Given the description of an element on the screen output the (x, y) to click on. 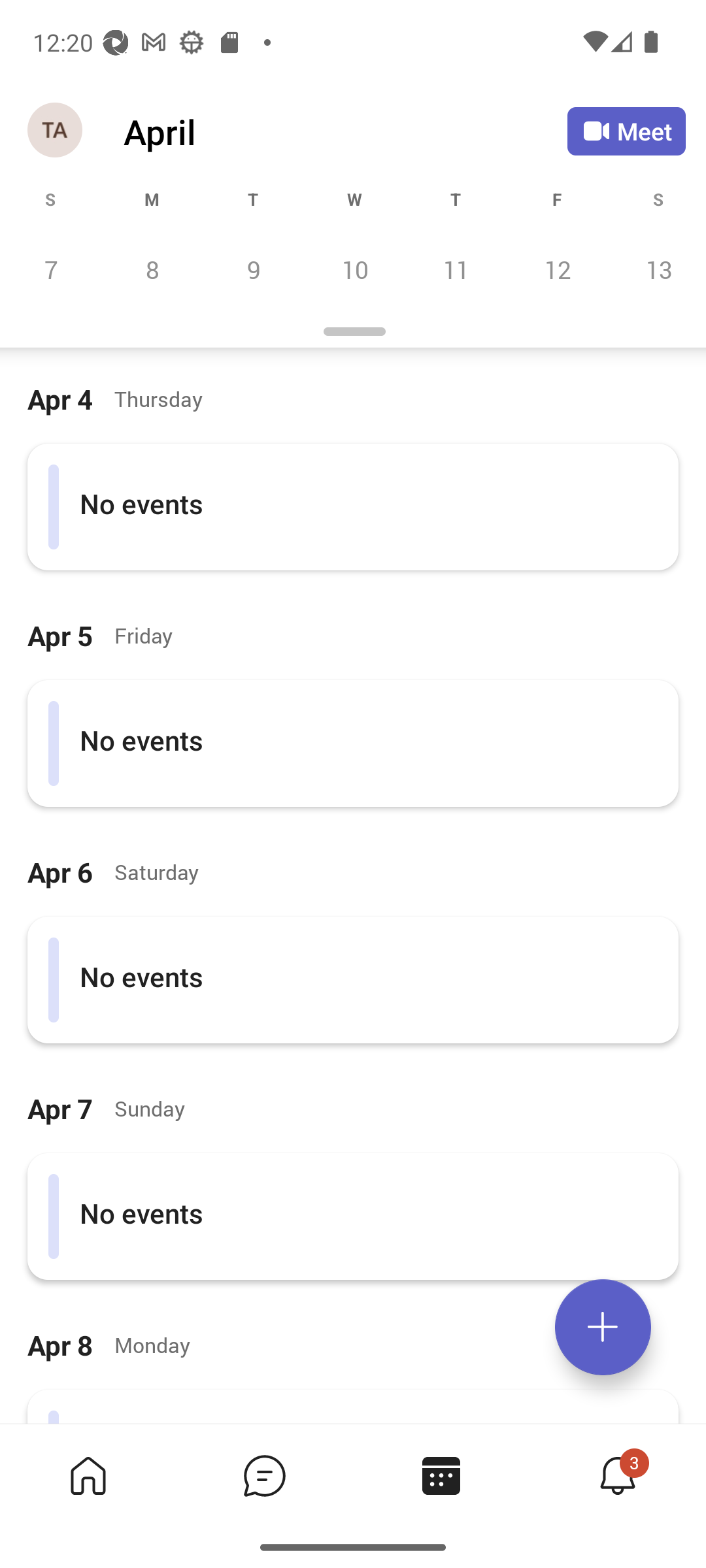
Navigation (56, 130)
Meet Meet now or join with an ID (626, 130)
April April Calendar Agenda View (345, 131)
Sunday, April 7 7 (50, 269)
Monday, April 8 8 (151, 269)
Tuesday, April 9 9 (253, 269)
Wednesday, April 10 10 (354, 269)
Thursday, April 11 11 (455, 269)
Friday, April 12 12 (556, 269)
Saturday, April 13 13 (656, 269)
Expand meetings menu (602, 1327)
Home tab,1 of 4, not selected (88, 1475)
Chat tab,2 of 4, not selected (264, 1475)
Calendar tab, 3 of 4 (441, 1475)
Activity tab,4 of 4, not selected, 3 new 3 (617, 1475)
